Given the description of an element on the screen output the (x, y) to click on. 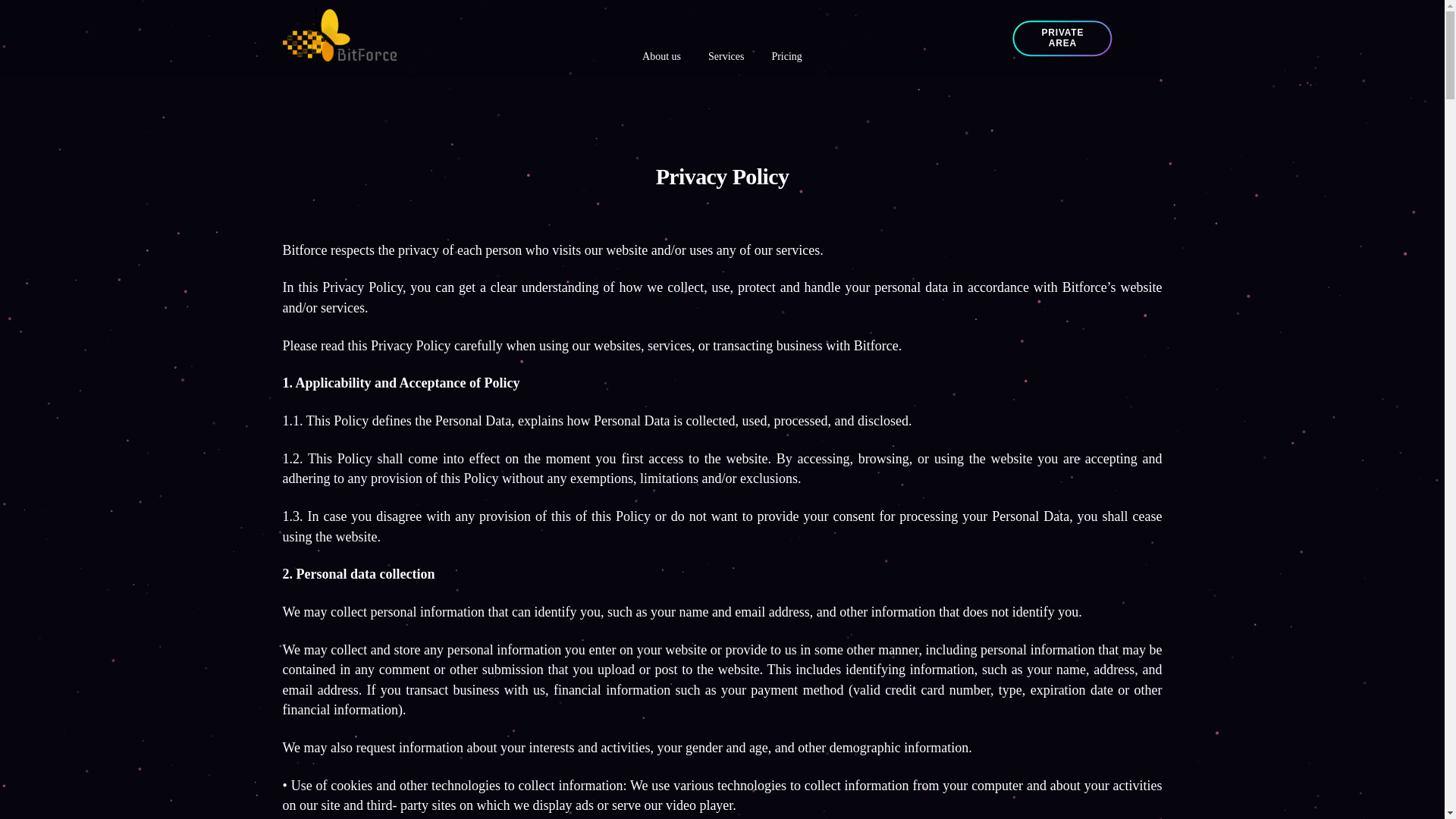
bitforce-logo (339, 34)
Services (726, 57)
PRIVATE AREA (1062, 38)
About us (661, 57)
PRIVATE AREA (1063, 37)
Pricing (786, 57)
